Given the description of an element on the screen output the (x, y) to click on. 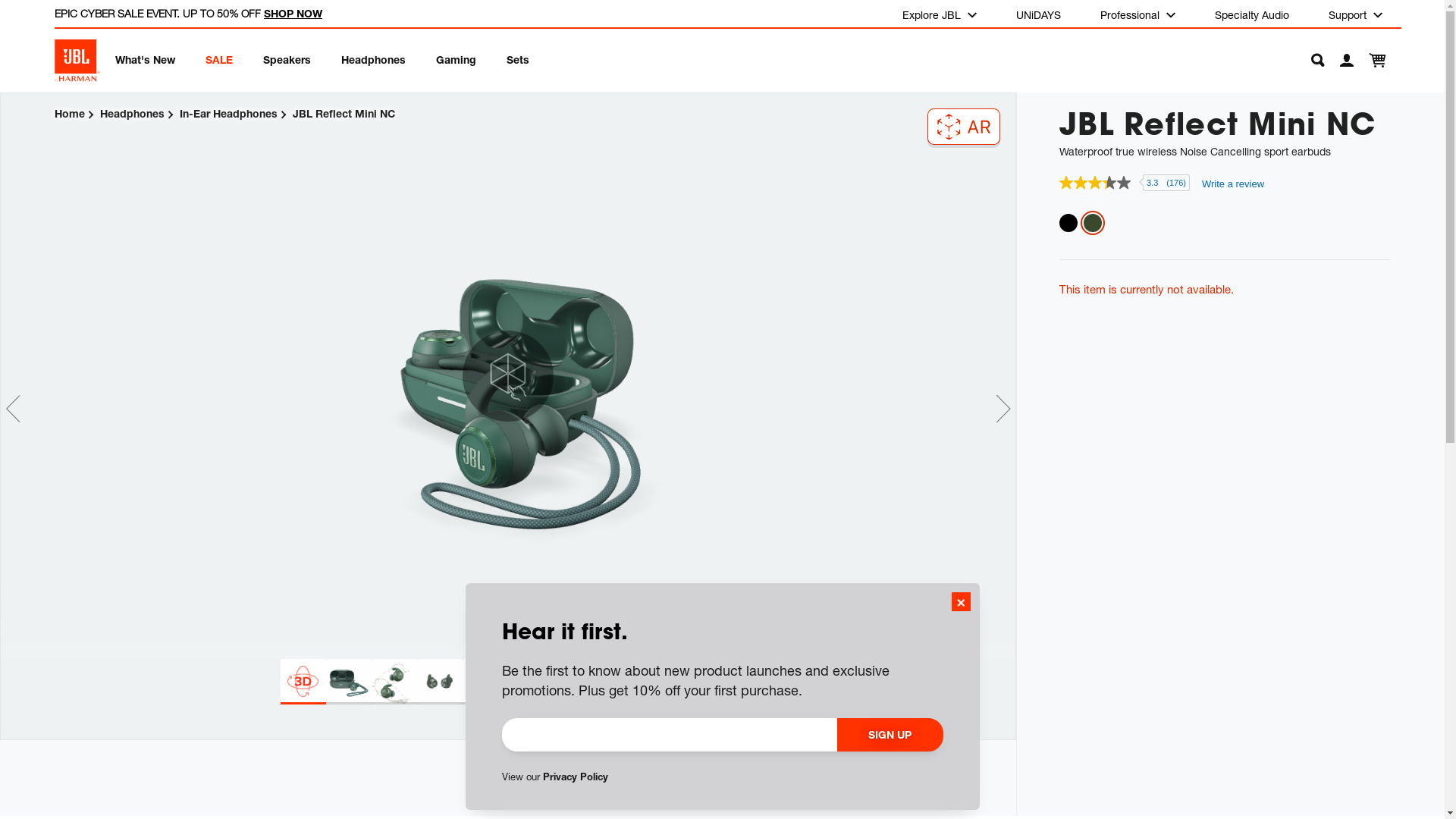
Specialty Audio Element type: text (1251, 14)
SIGN UP Element type: text (890, 734)
NEXT Element type: text (1003, 408)
Privacy Policy Element type: text (575, 776)
Search Element type: text (1310, 60)
In-Ear Headphones Element type: text (228, 113)
SCAN ME TO VIEW IN YOUR SPACE Element type: text (963, 126)
Professional Element type: text (1137, 14)
Black Element type: text (1068, 222)
Speakers Element type: text (286, 58)
Videos Element type: text (507, 719)
What's New Element type: text (145, 58)
SALE Element type: text (218, 58)
Green Element type: text (1092, 222)
Gaming Element type: text (456, 58)
Headphones Element type: text (132, 113)
Support Element type: text (1355, 14)
PREVIOUS Element type: text (12, 408)
Home Element type: text (69, 113)
Explore JBL Element type: text (939, 14)
Headphones Element type: text (373, 58)
Sets Element type: text (517, 58)
SHOP NOW Element type: text (292, 12)
UNiDAYS Element type: text (1038, 14)
Write a review Element type: text (1232, 183)
